Given the description of an element on the screen output the (x, y) to click on. 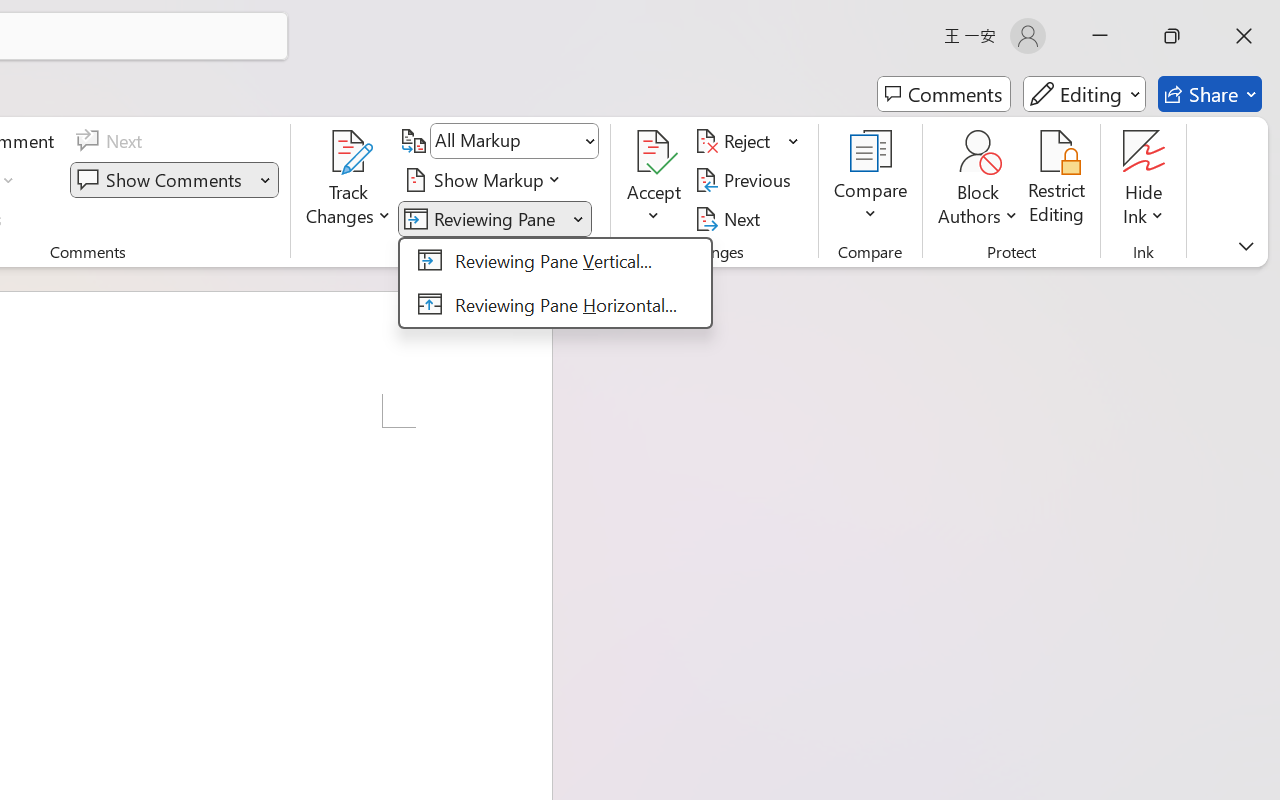
Hide Ink (1144, 151)
Show Markup (485, 179)
Restrict Editing (1057, 179)
Show Comments (174, 179)
Reviewing Pane (494, 218)
Next (730, 218)
Show Comments (162, 179)
Track Changes (349, 151)
Accept and Move to Next (653, 151)
Accept (653, 179)
Track Changes (349, 179)
